Given the description of an element on the screen output the (x, y) to click on. 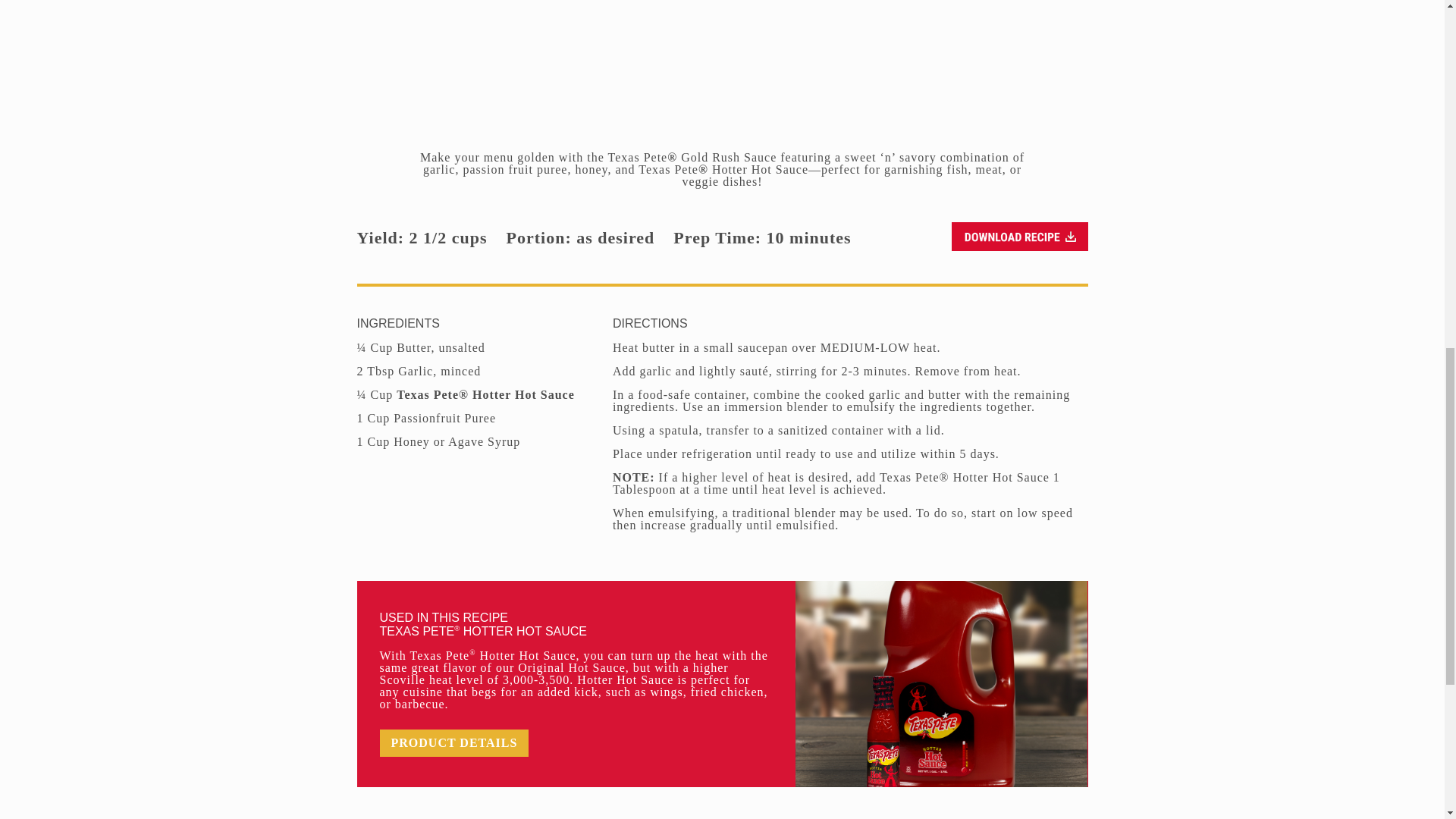
YouTube video player (721, 58)
